Given the description of an element on the screen output the (x, y) to click on. 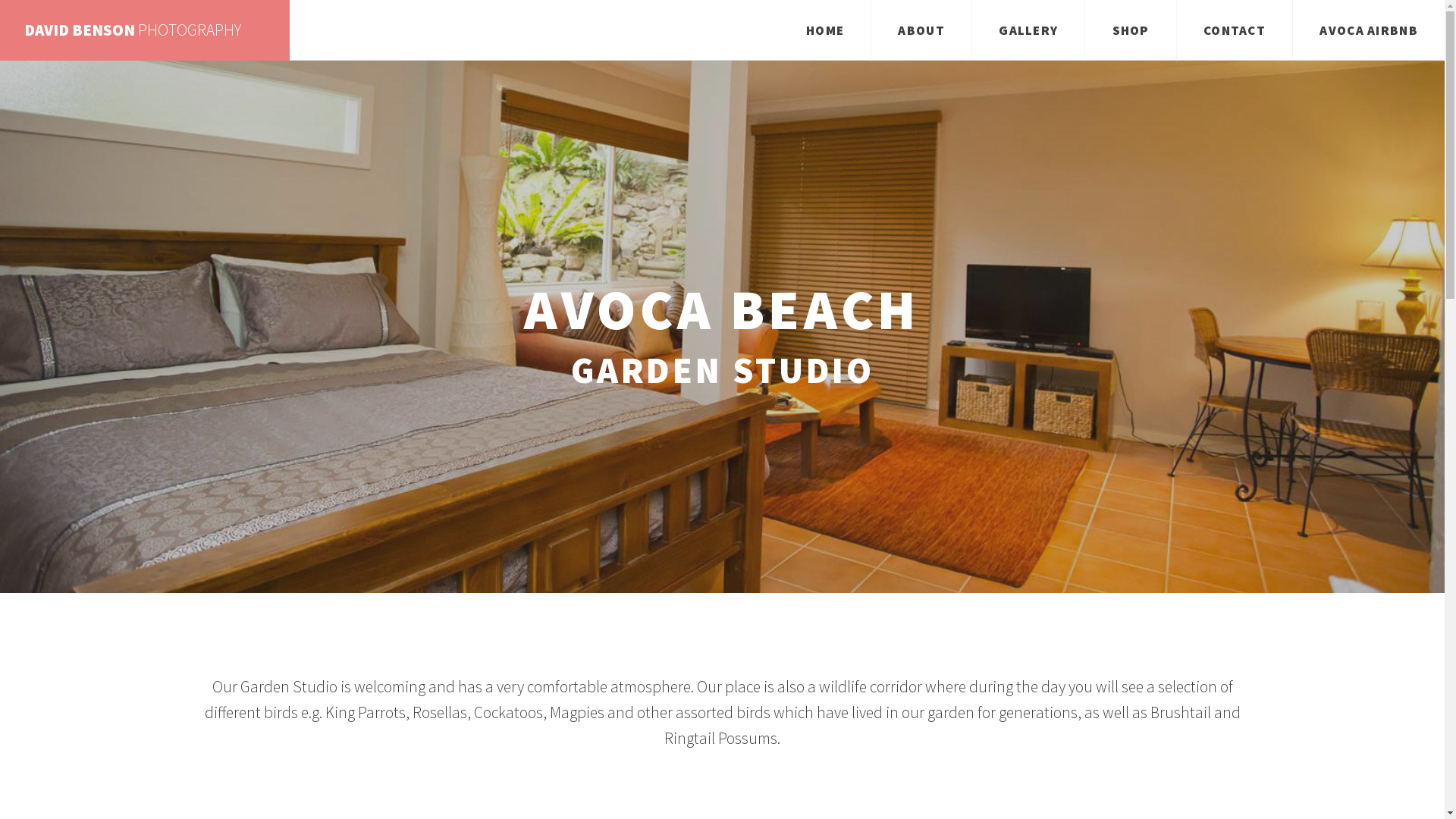
HOME Element type: text (825, 30)
CONTACT Element type: text (1234, 30)
GALLERY Element type: text (1028, 30)
AVOCA AIRBNB Element type: text (1368, 30)
DAVID BENSON PHOTOGRAPHY Element type: text (144, 30)
SHOP Element type: text (1130, 30)
ABOUT Element type: text (921, 30)
